Given the description of an element on the screen output the (x, y) to click on. 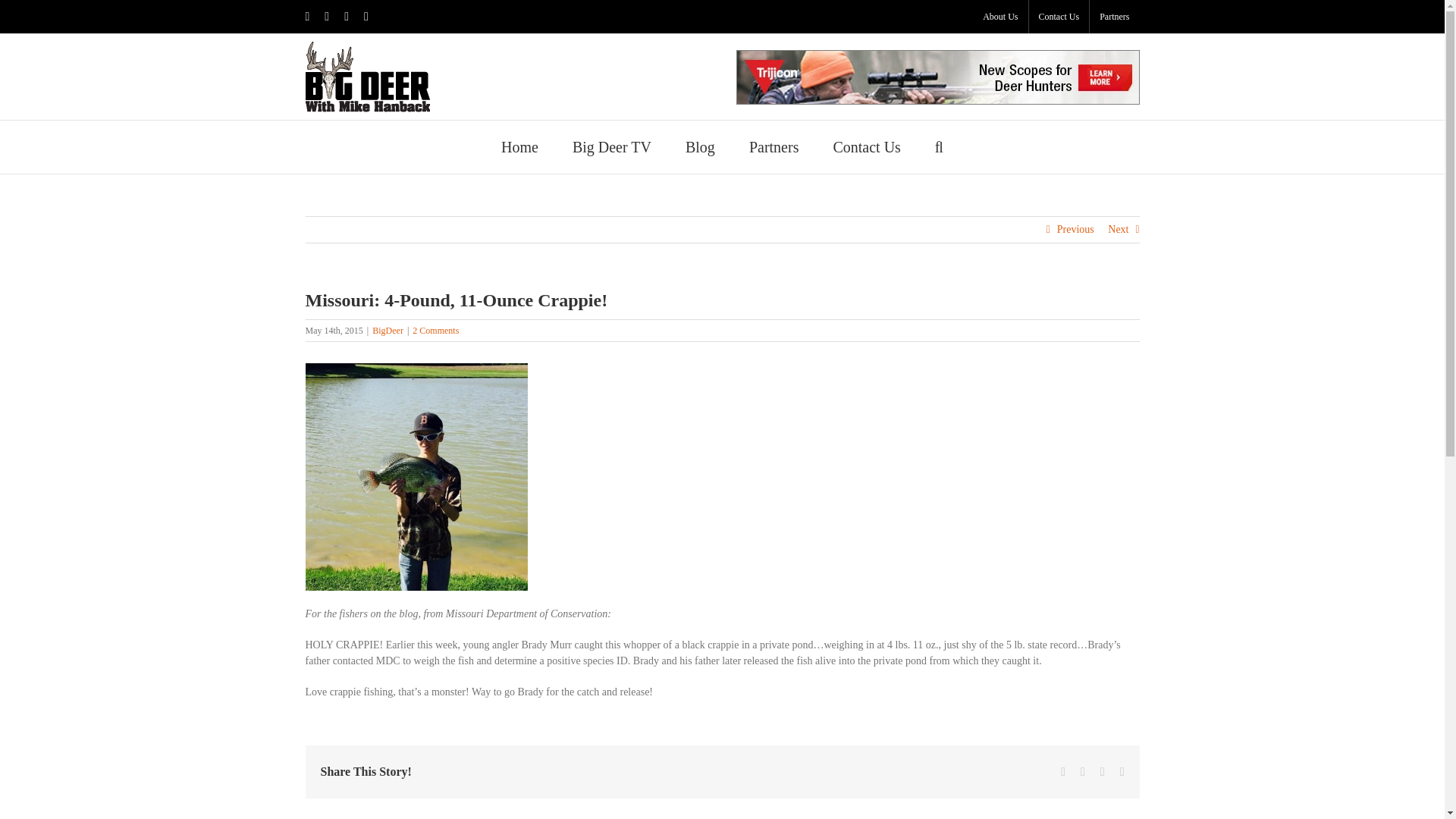
Partners (1113, 16)
About Us (999, 16)
Contact Us (1058, 16)
Partners (774, 146)
Contact Us (865, 146)
Big Deer TV (611, 146)
